Given the description of an element on the screen output the (x, y) to click on. 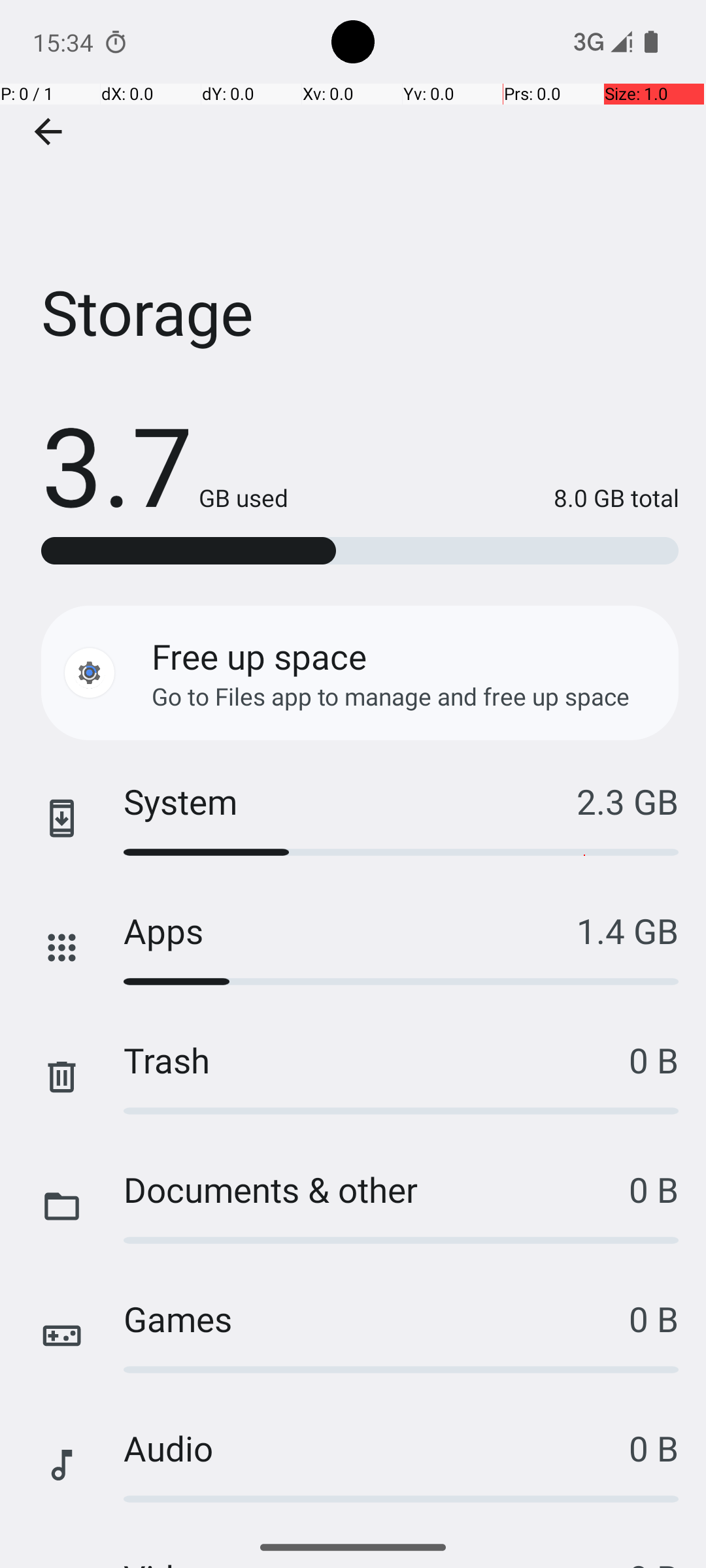
3.7 GB used Element type: android.widget.TextView (164, 463)
